Given the description of an element on the screen output the (x, y) to click on. 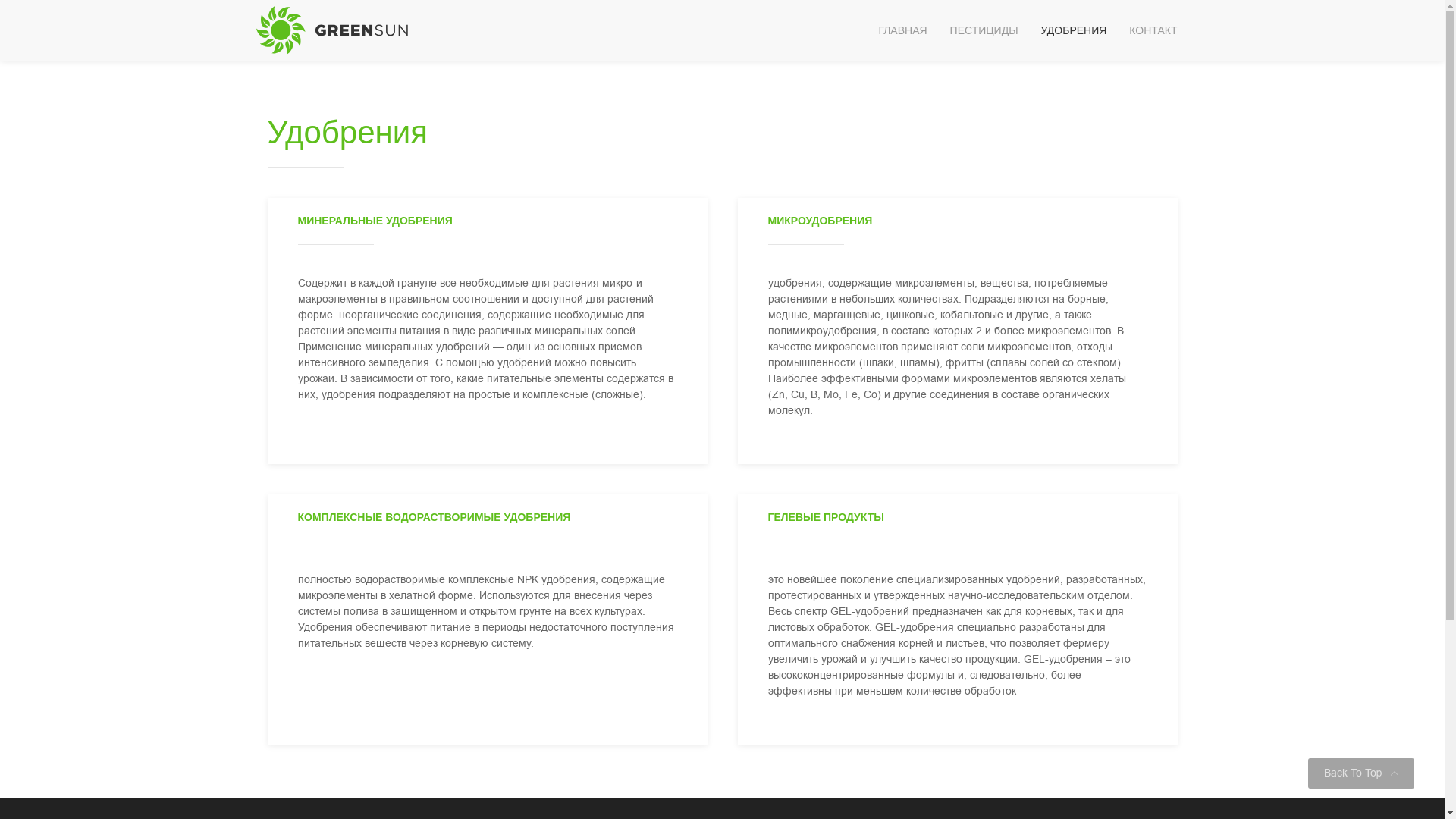
Back To Top    Element type: text (1361, 773)
